Given the description of an element on the screen output the (x, y) to click on. 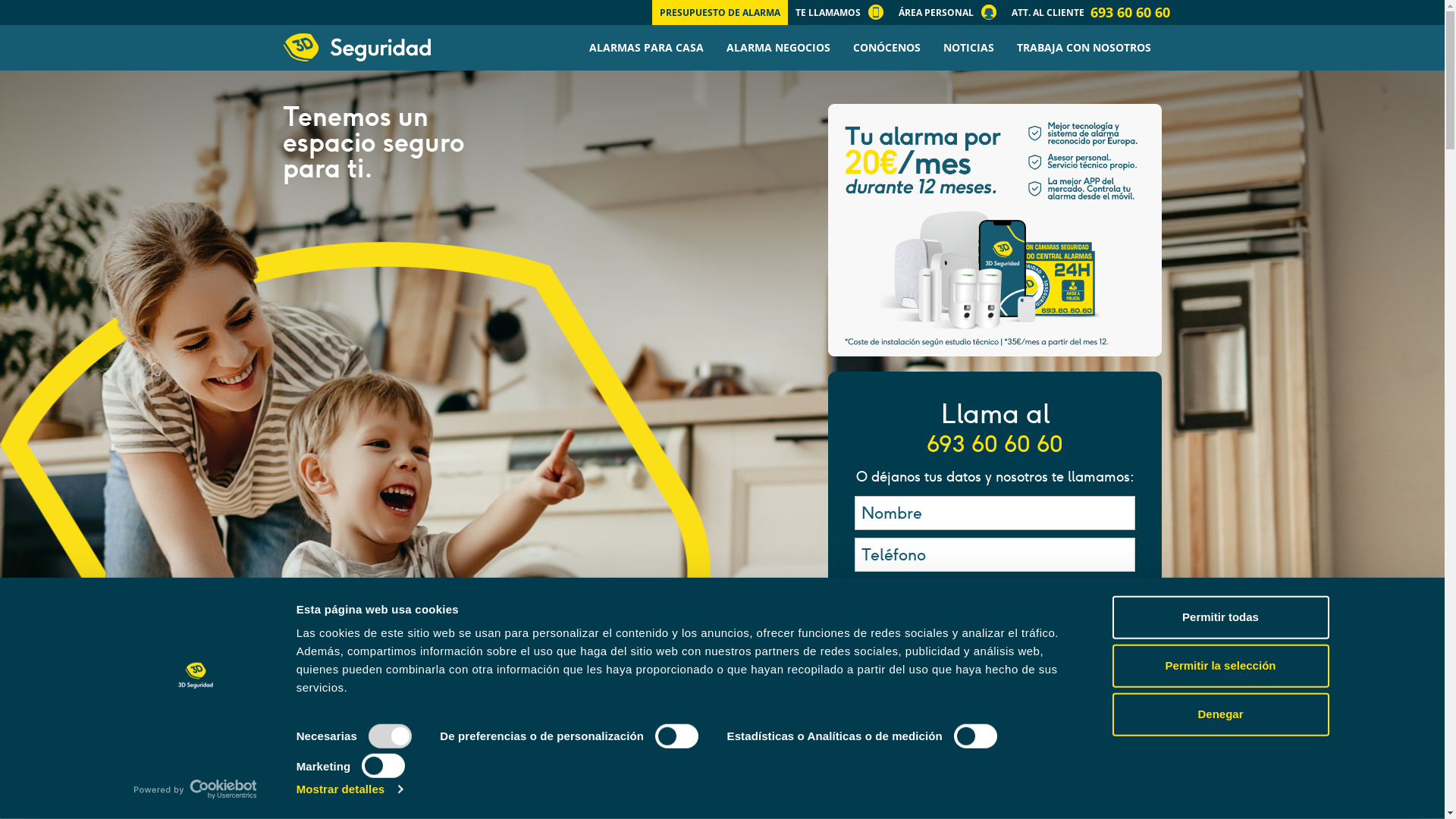
TRABAJA CON NOSOTROS Element type: text (1083, 47)
TE LLAMAMOS Element type: text (845, 11)
NOTICIAS Element type: text (967, 47)
ATT. AL CLIENTE
693 60 60 60 Element type: text (1090, 12)
Permitir todas Element type: text (1219, 617)
Mostrar detalles Element type: text (349, 789)
ALARMA NEGOCIOS Element type: text (777, 47)
Siguiente  Element type: text (38, 15)
PRESUPUESTO DE ALARMA Element type: text (719, 12)
693 60 60 60 Element type: text (994, 443)
Denegar Element type: text (1219, 714)
Enviar Element type: text (994, 685)
ALARMAS PARA CASA Element type: text (646, 47)
